Given the description of an element on the screen output the (x, y) to click on. 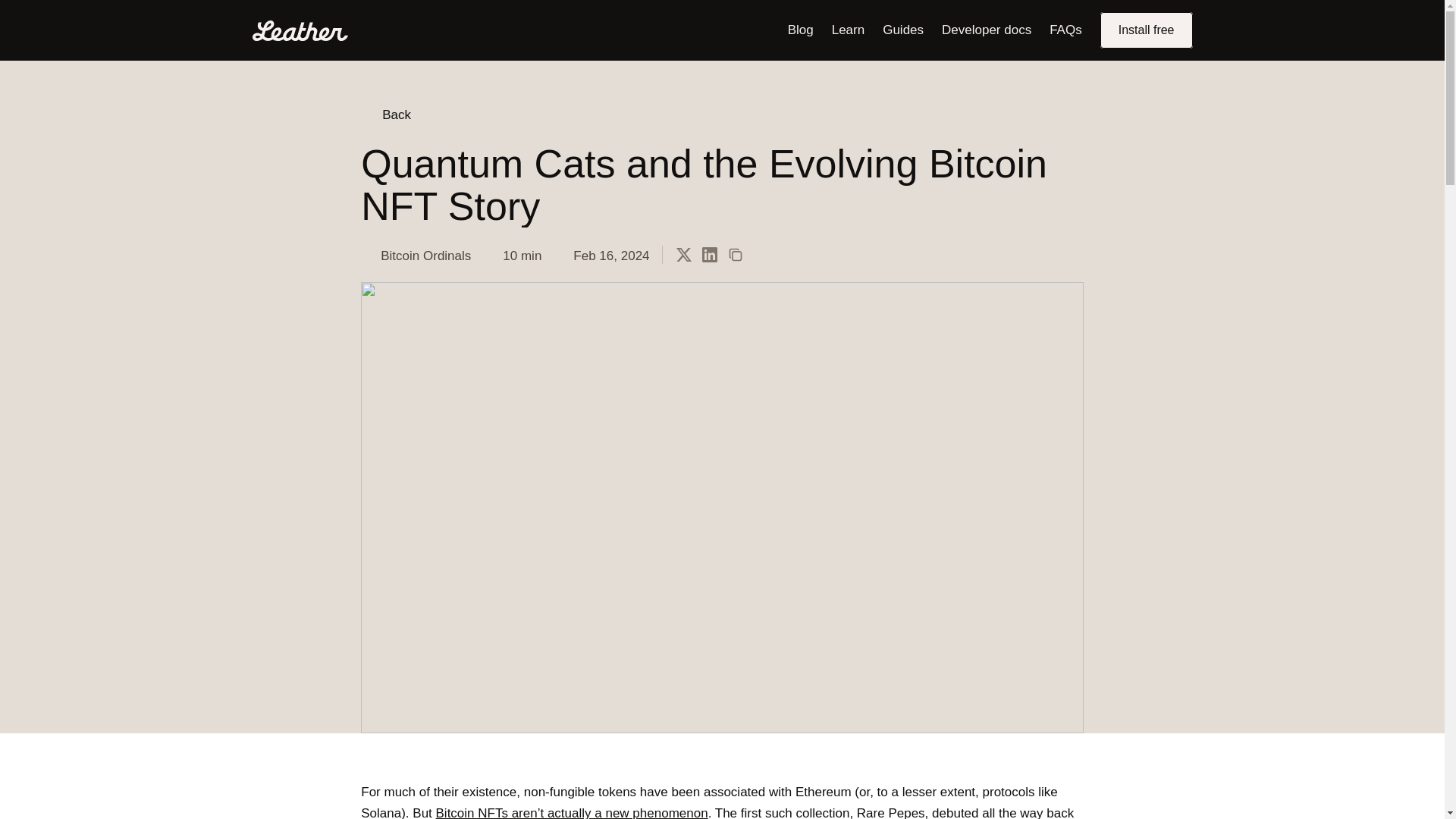
FAQs (1065, 29)
Learn (847, 29)
Guides (902, 29)
Blog (800, 29)
Back (385, 115)
Install free (1146, 30)
Developer docs (986, 29)
